Given the description of an element on the screen output the (x, y) to click on. 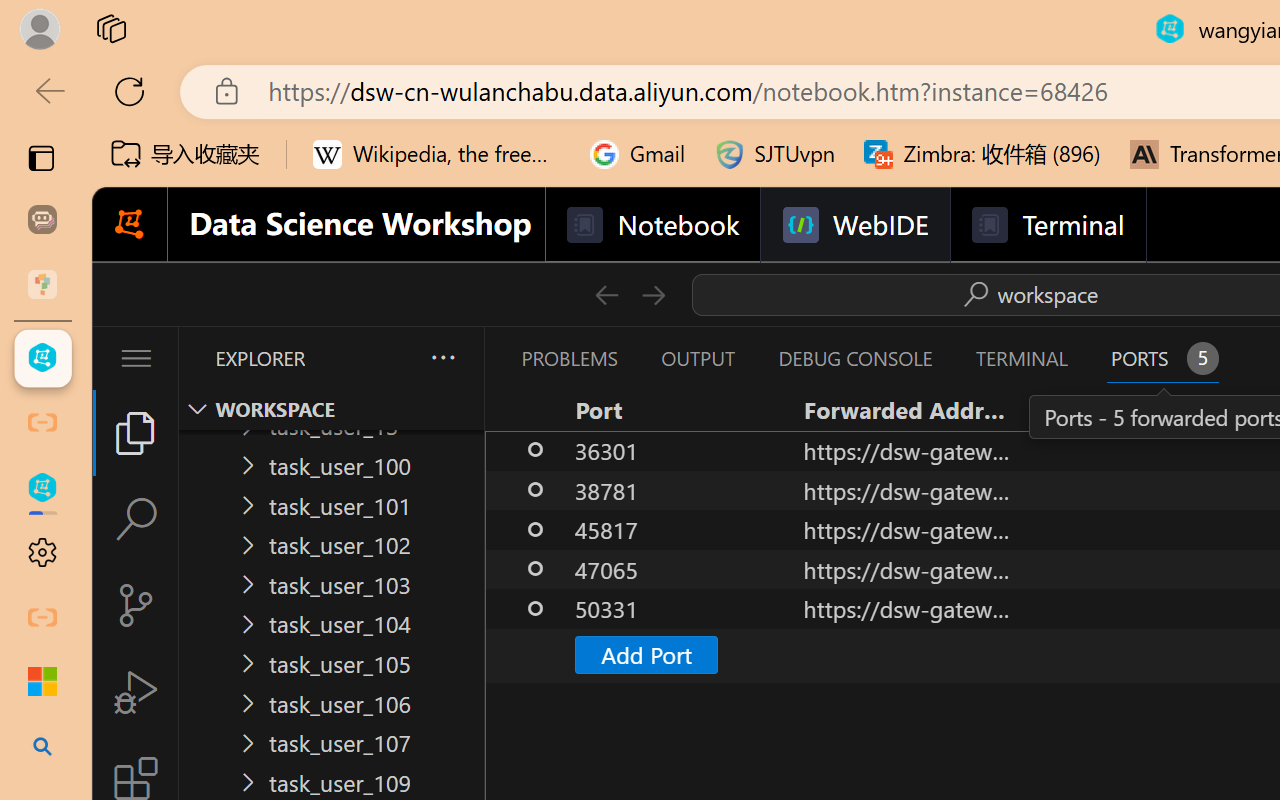
WebIDE (854, 225)
Class: actions-container (1027, 294)
Ports - 5 forwarded ports Ports - 5 forwarded ports (1162, 358)
Explorer actions (390, 358)
Notebook (652, 225)
Source Control (Ctrl+Shift+G) (135, 604)
wangyian_webcrawler - DSW (42, 487)
Views and More Actions... (442, 357)
Output (Ctrl+Shift+U) (696, 358)
Wikipedia, the free encyclopedia (437, 154)
SJTUvpn (774, 154)
Terminal (1046, 225)
